Given the description of an element on the screen output the (x, y) to click on. 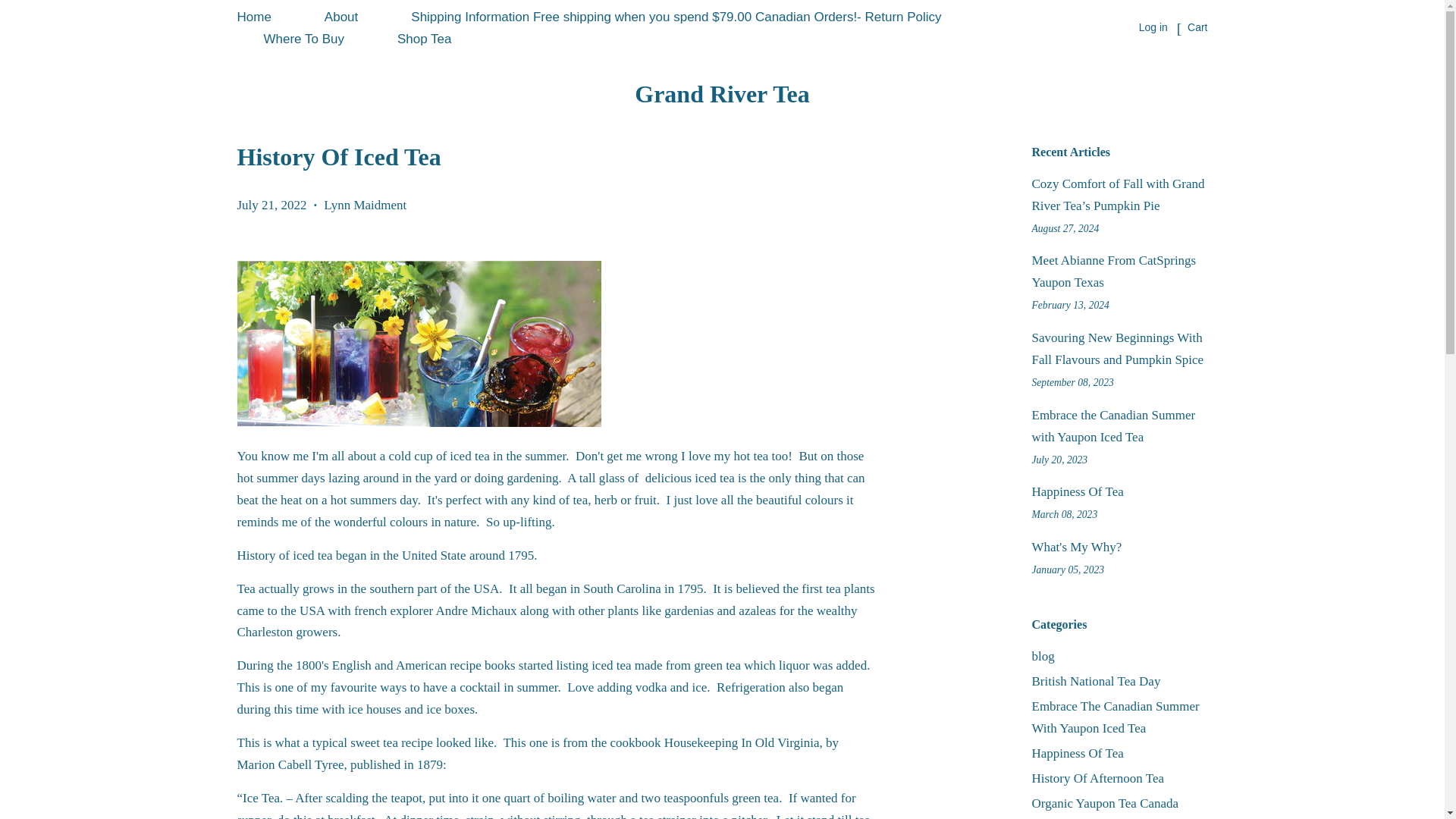
Embrace the Canadian Summer with Yaupon Iced Tea (1112, 425)
Home (266, 17)
What's My Why? (1075, 546)
Grand River Tea (721, 93)
Show articles tagged History Of Afternoon Tea (1096, 778)
Meet Abianne From CatSprings Yaupon Texas (1112, 271)
About (341, 17)
Where To Buy (302, 39)
Cart (1197, 27)
